Given the description of an element on the screen output the (x, y) to click on. 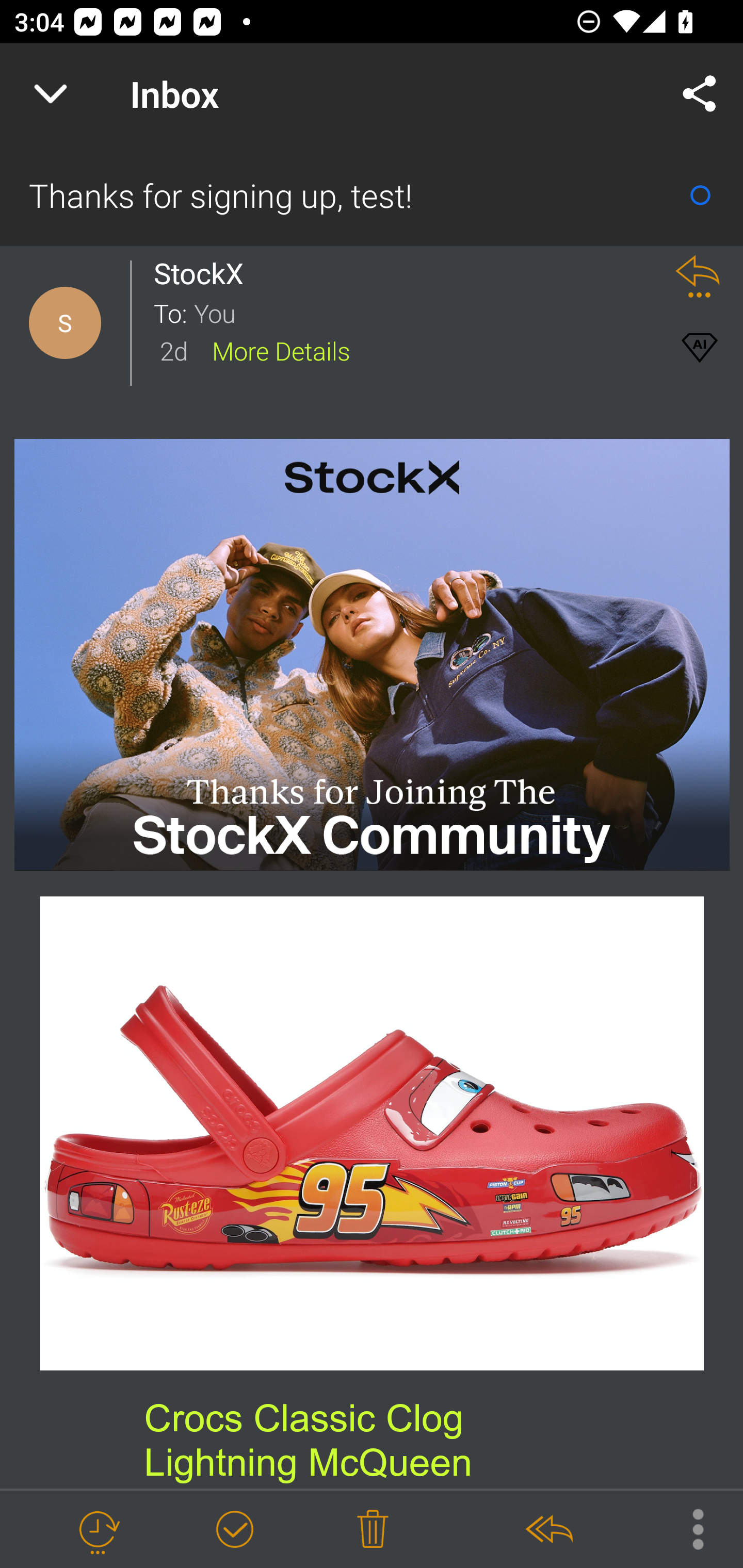
Navigate up (50, 93)
Share (699, 93)
Mark as Read (699, 194)
StockX (203, 273)
Contact Details (64, 322)
More Details (280, 349)
Crocs Classic Clog Lightning McQueen (372, 1133)
Crocs Classic Clog Lightning McQueen (307, 1439)
More Options (687, 1528)
Snooze (97, 1529)
Mark as Done (234, 1529)
Delete (372, 1529)
Reply All (548, 1529)
